Given the description of an element on the screen output the (x, y) to click on. 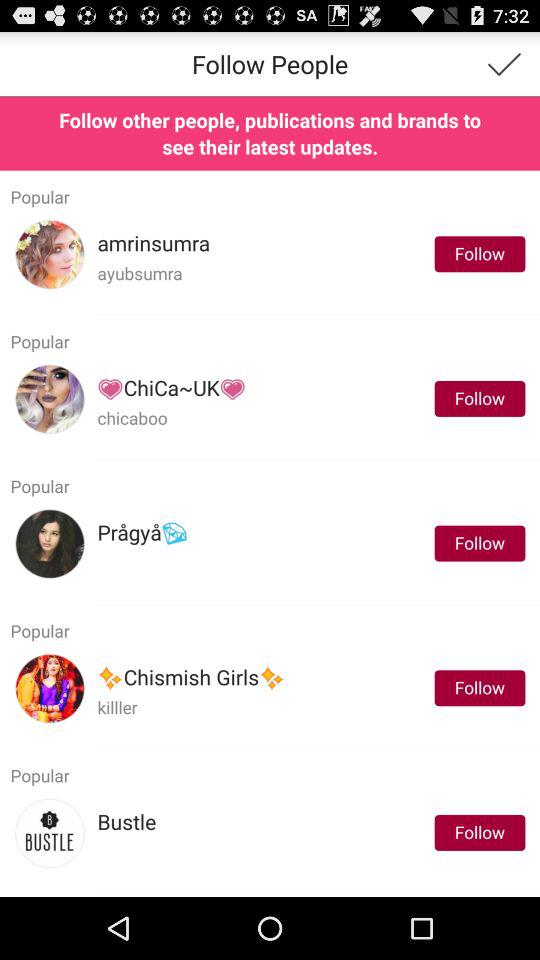
click the icon below chicaboo icon (317, 459)
